Given the description of an element on the screen output the (x, y) to click on. 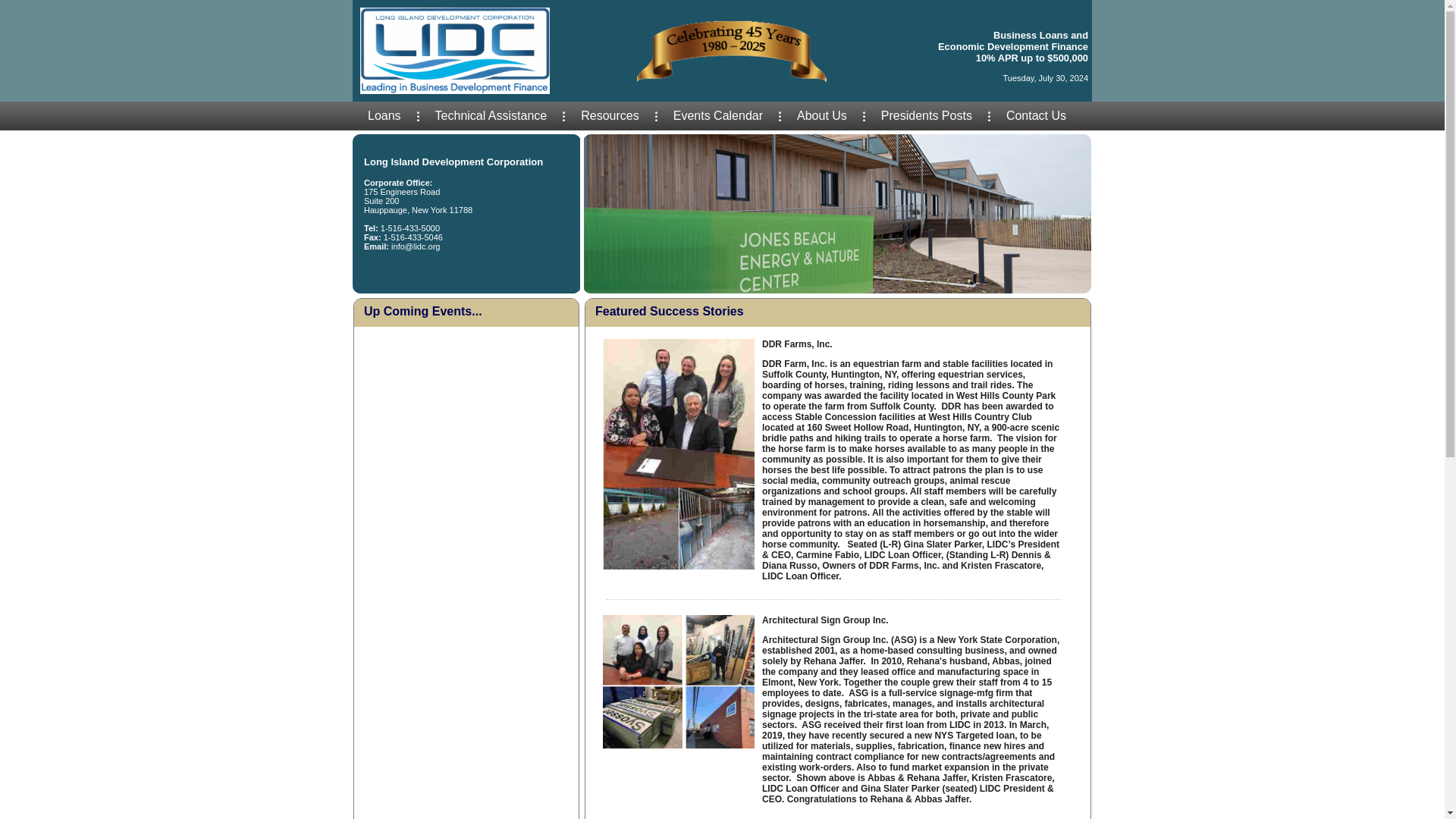
Technical Assistance (491, 115)
Contact Us (1036, 115)
Events Calendar (717, 115)
Loans (384, 115)
About Us (821, 115)
Resources (609, 115)
Presidents Posts (926, 115)
